Given the description of an element on the screen output the (x, y) to click on. 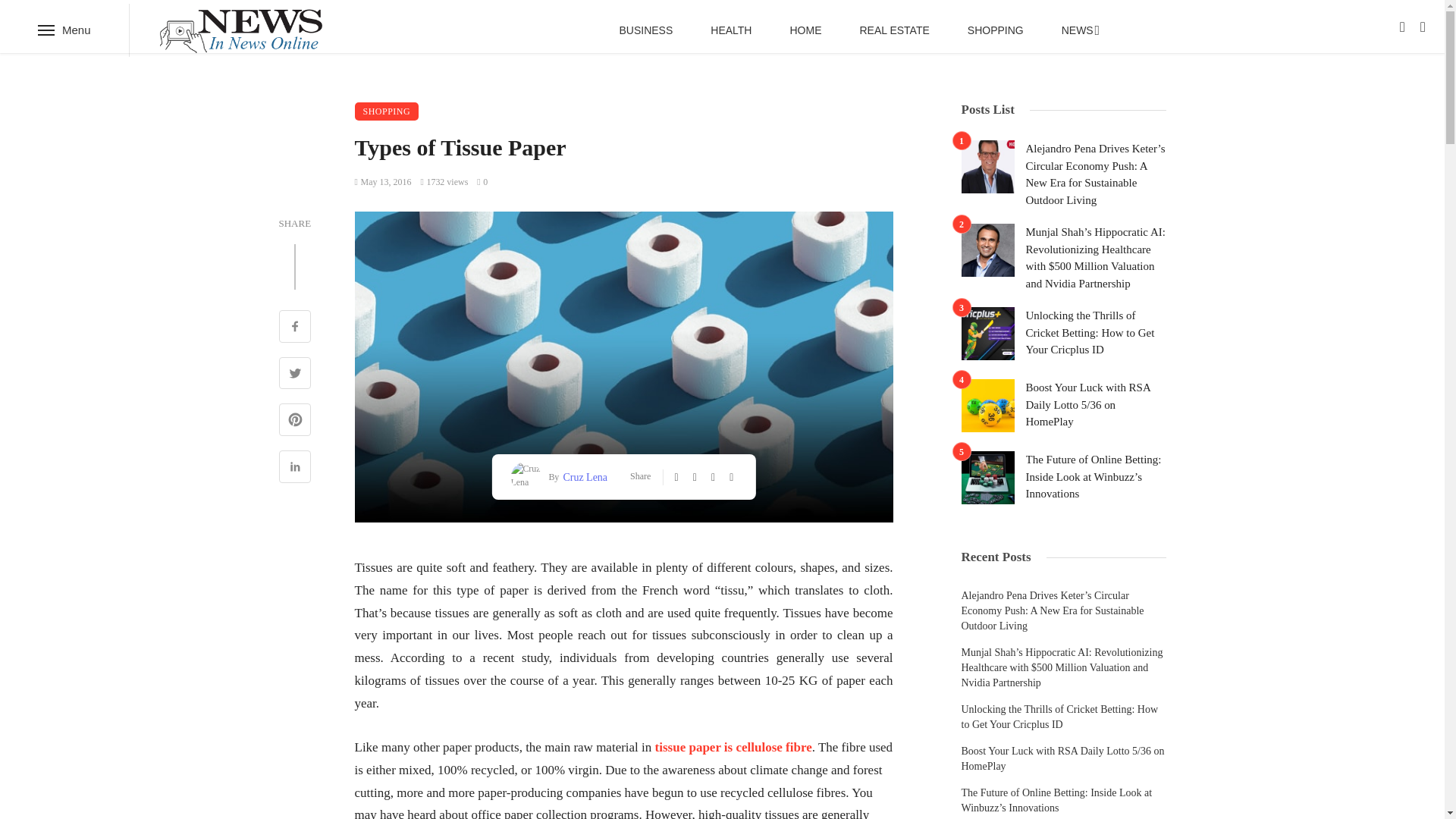
REAL ESTATE (893, 30)
SHOPPING (995, 30)
Posts by Cruz Lena (583, 476)
Cruz Lena (583, 476)
BUSINESS (645, 30)
0 Comments (482, 181)
SHOPPING (387, 111)
Share on Pinterest (295, 421)
0 (482, 181)
tissue paper is cellulose fibre (733, 747)
Share on Linkedin (295, 468)
HEALTH (730, 30)
May 13, 2016 at 7:10 am (383, 181)
HOME (805, 30)
Share on Twitter (295, 375)
